Given the description of an element on the screen output the (x, y) to click on. 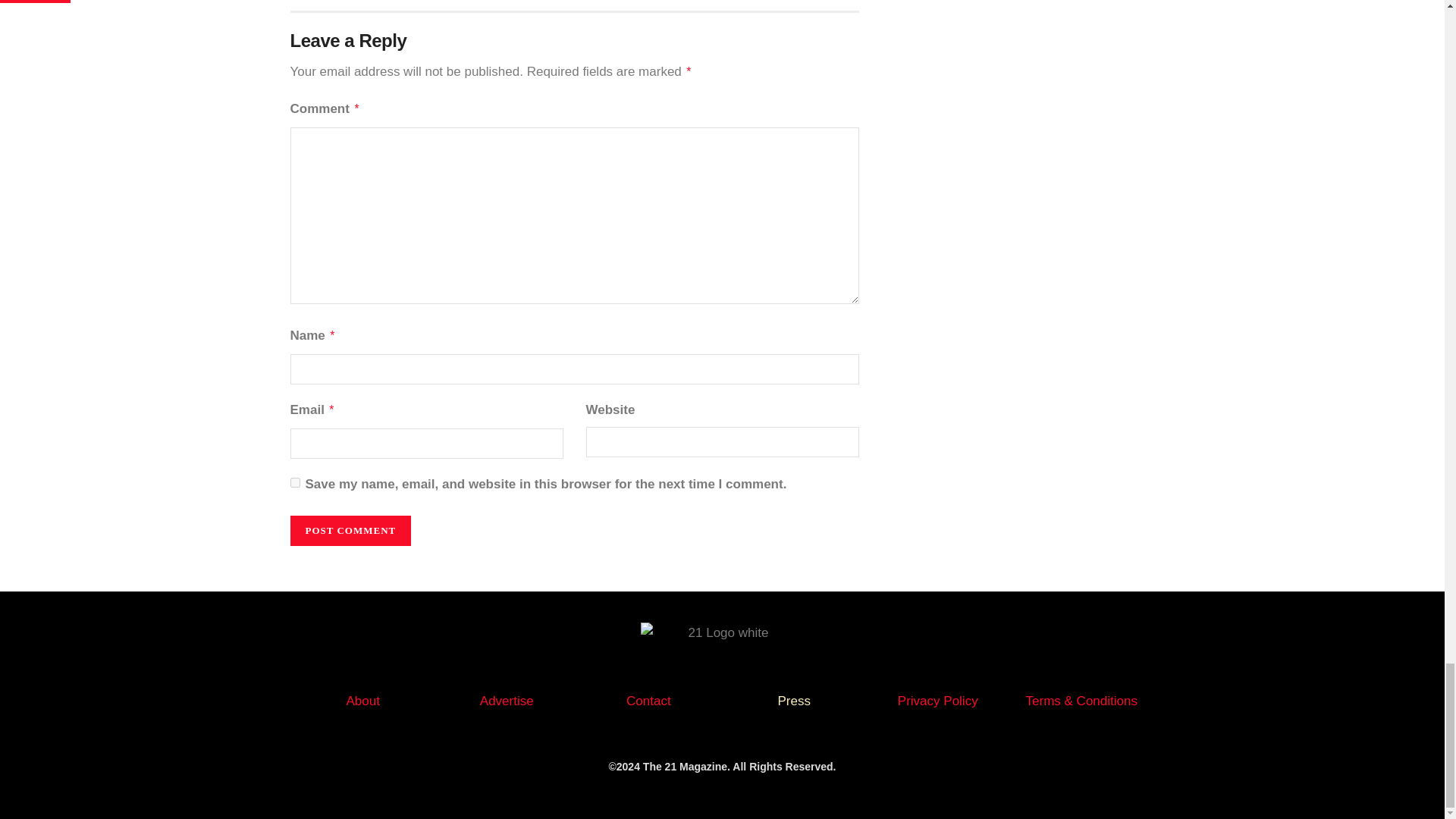
yes (294, 482)
Post Comment (349, 530)
